Given the description of an element on the screen output the (x, y) to click on. 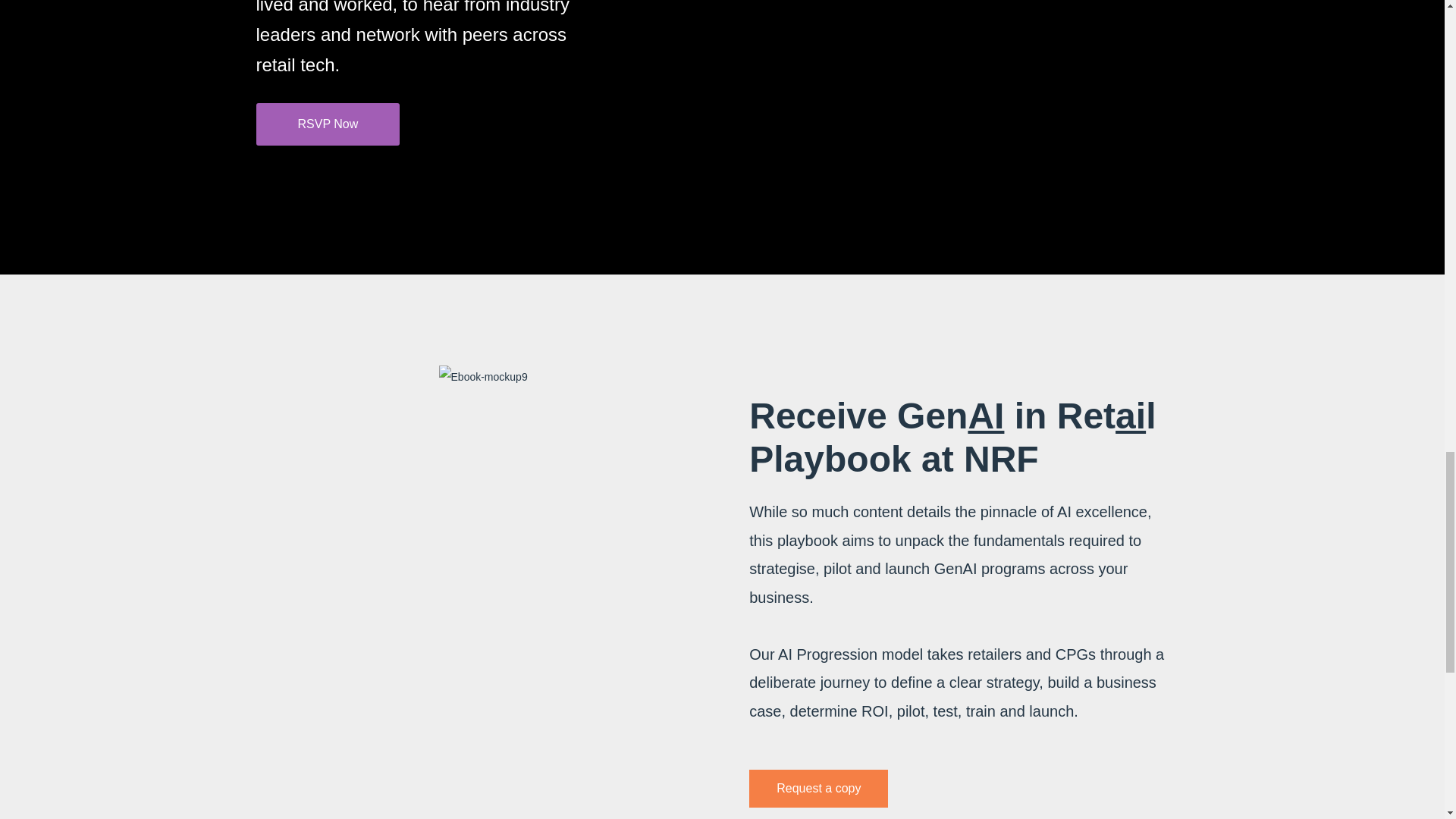
Ebook-mockup9 (483, 376)
RSVP Now (328, 124)
Request a copy (818, 788)
